Given the description of an element on the screen output the (x, y) to click on. 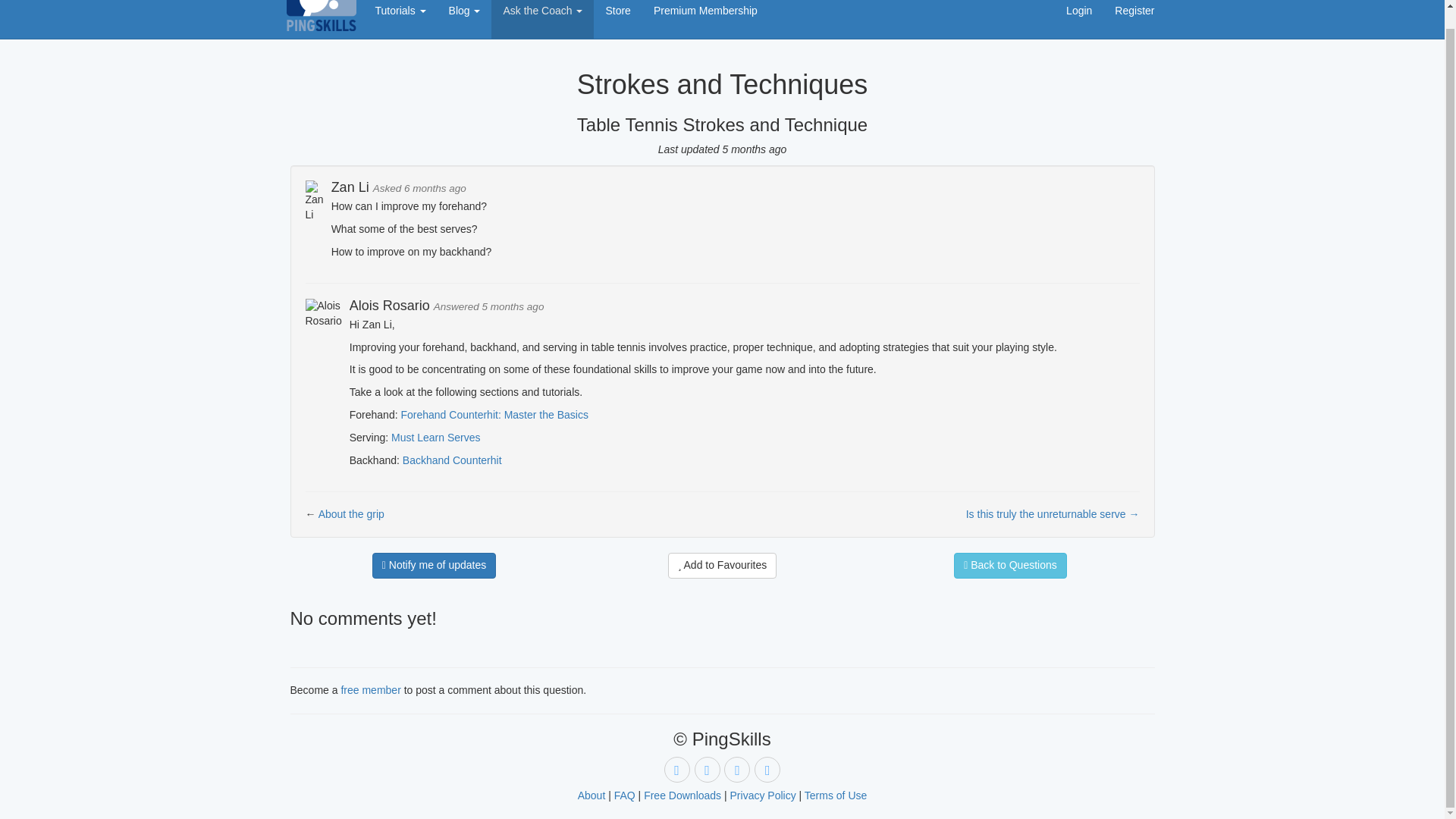
Add to Favourites (722, 565)
Login (1078, 19)
Forehand Counterhit: Master the Basics (494, 414)
free member (370, 689)
Backhand Counterhit (452, 460)
FAQ (624, 795)
Notify me of updates (434, 565)
Follow PingSkills on Facebook (736, 769)
Register (1134, 19)
Contact PingSkills (767, 769)
